Given the description of an element on the screen output the (x, y) to click on. 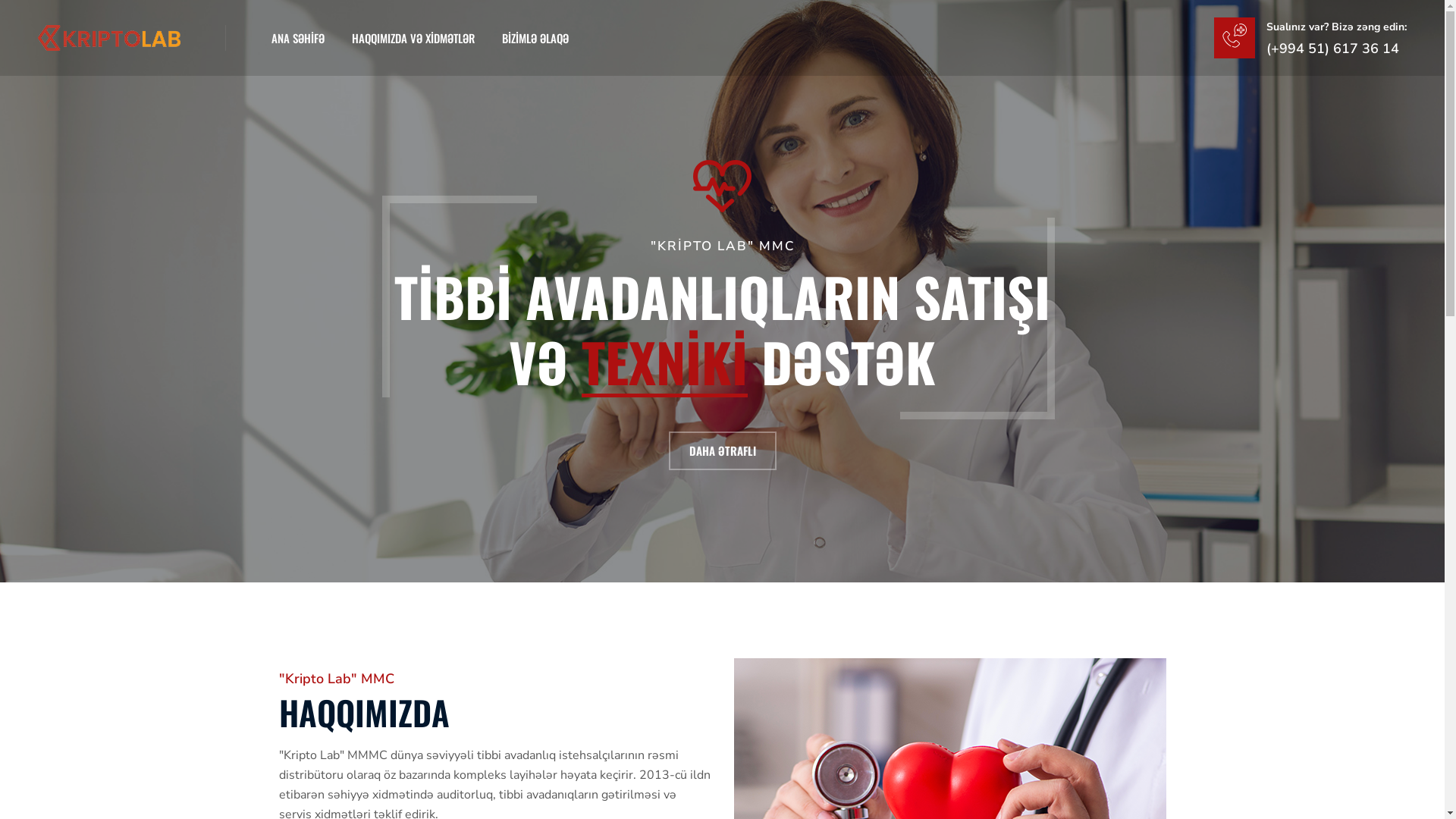
(+994 51) 617 36 14 Element type: text (1336, 48)
Medipluse Element type: hover (108, 37)
